Given the description of an element on the screen output the (x, y) to click on. 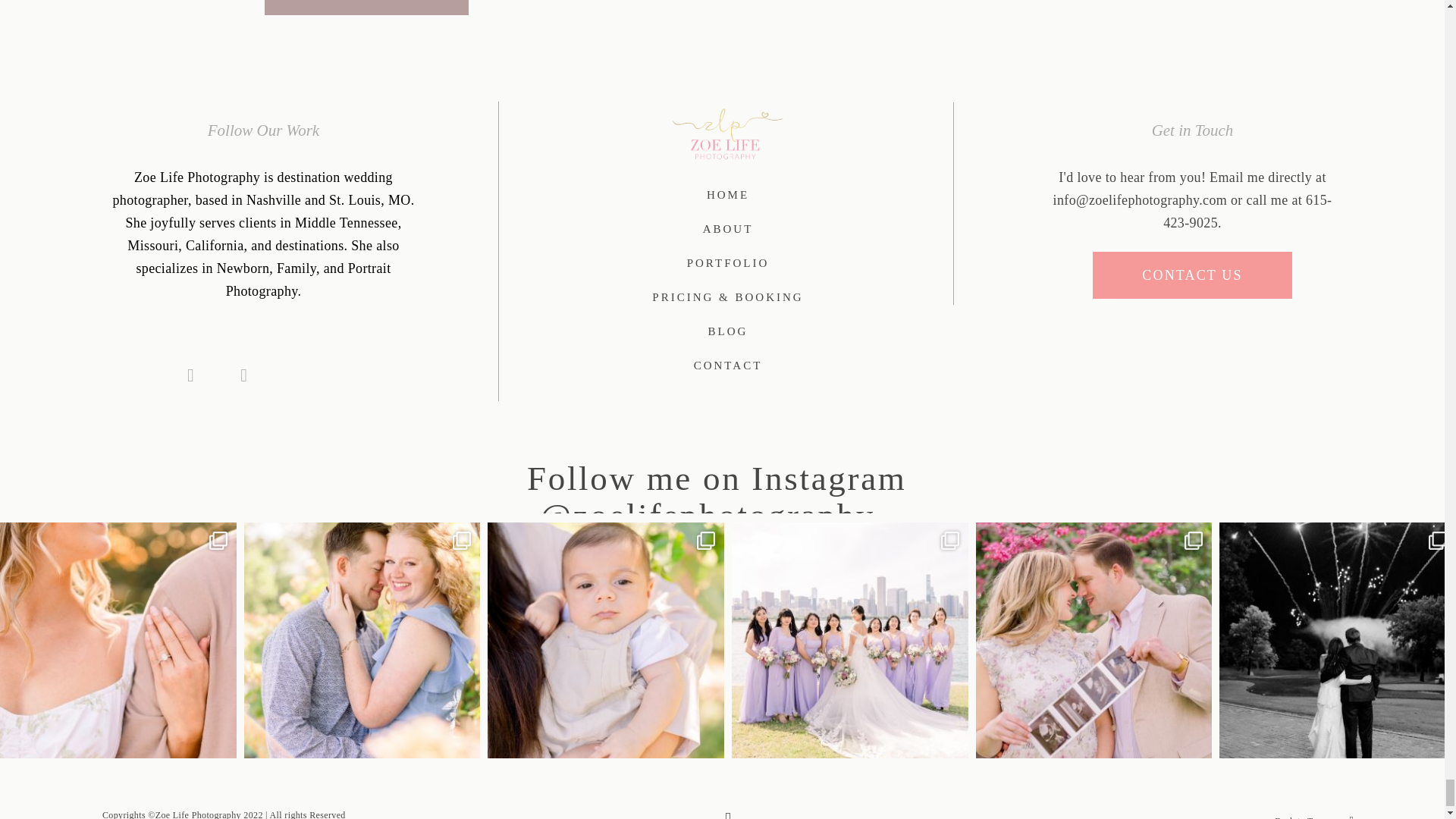
Back to Top (1298, 816)
Submit Comment (366, 7)
ABOUT (728, 229)
CONTACT (728, 365)
Submit Comment (366, 7)
Back to Top (1314, 813)
CONTACT US (1192, 275)
PORTFOLIO (728, 262)
HOME (727, 194)
BLOG (727, 331)
